Given the description of an element on the screen output the (x, y) to click on. 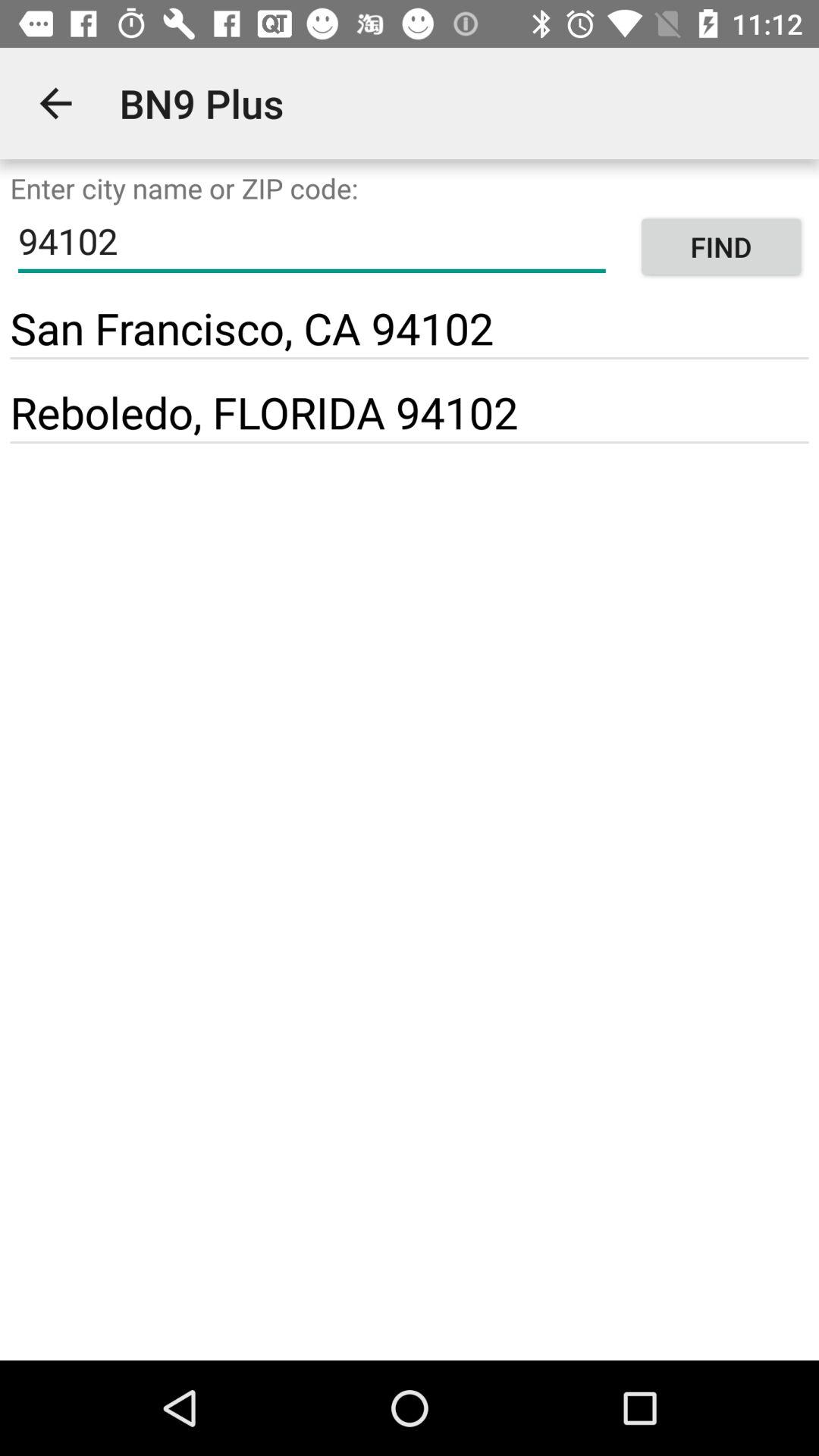
open item next to 94102 (720, 246)
